Given the description of an element on the screen output the (x, y) to click on. 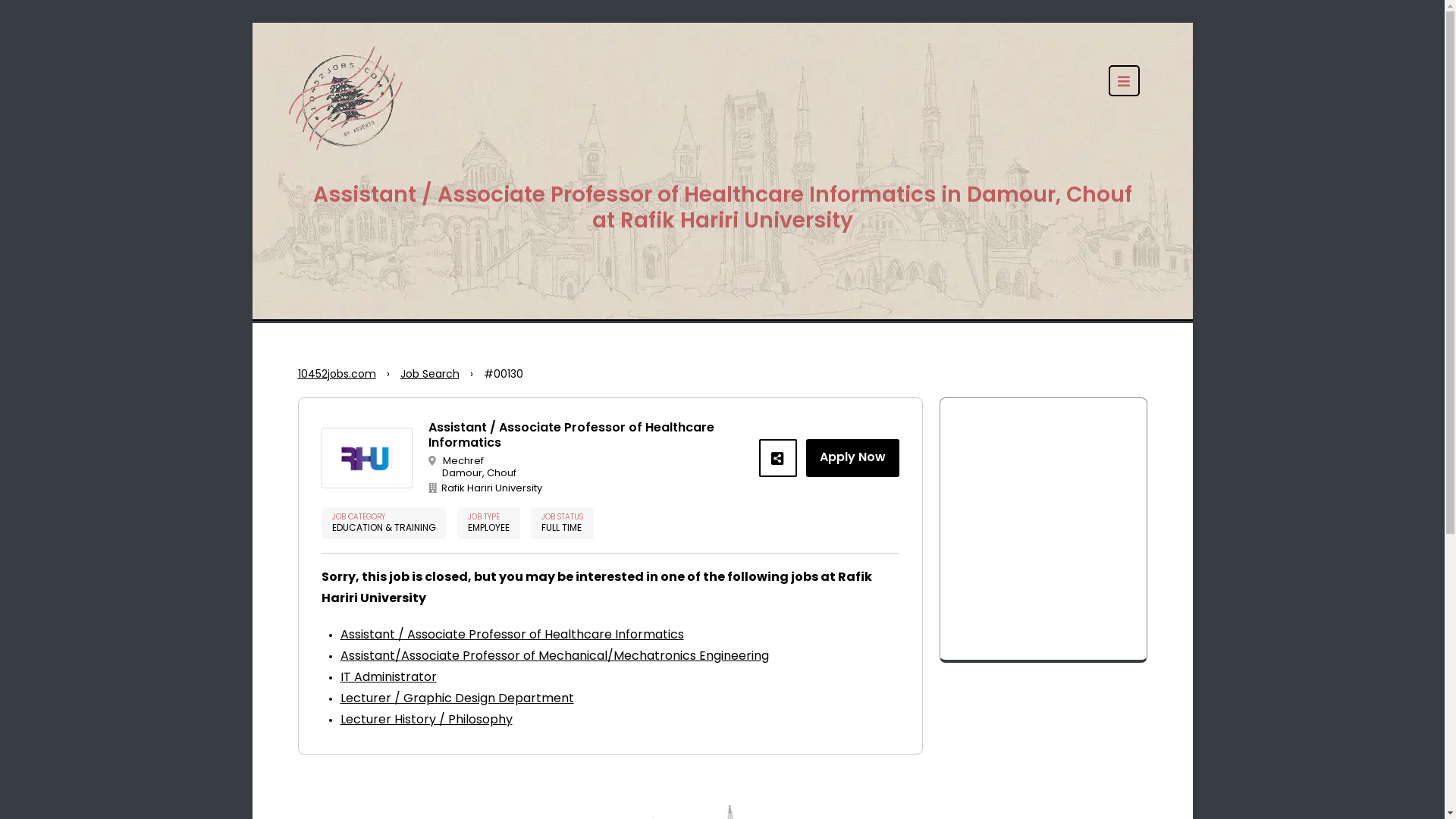
Open Hamburger Menu Element type: hover (1123, 80)
Job Search Element type: text (429, 375)
10452jobs.com Element type: text (336, 375)
IT Administrator Element type: text (387, 677)
Lecturer / Graphic Design Department Element type: text (456, 699)
Assistant / Associate Professor of Healthcare Informatics Element type: text (511, 635)
Apply Now Element type: text (851, 457)
Lecturer History / Philosophy Element type: text (425, 720)
Rafik Hariri University Element type: text (588, 489)
